Given the description of an element on the screen output the (x, y) to click on. 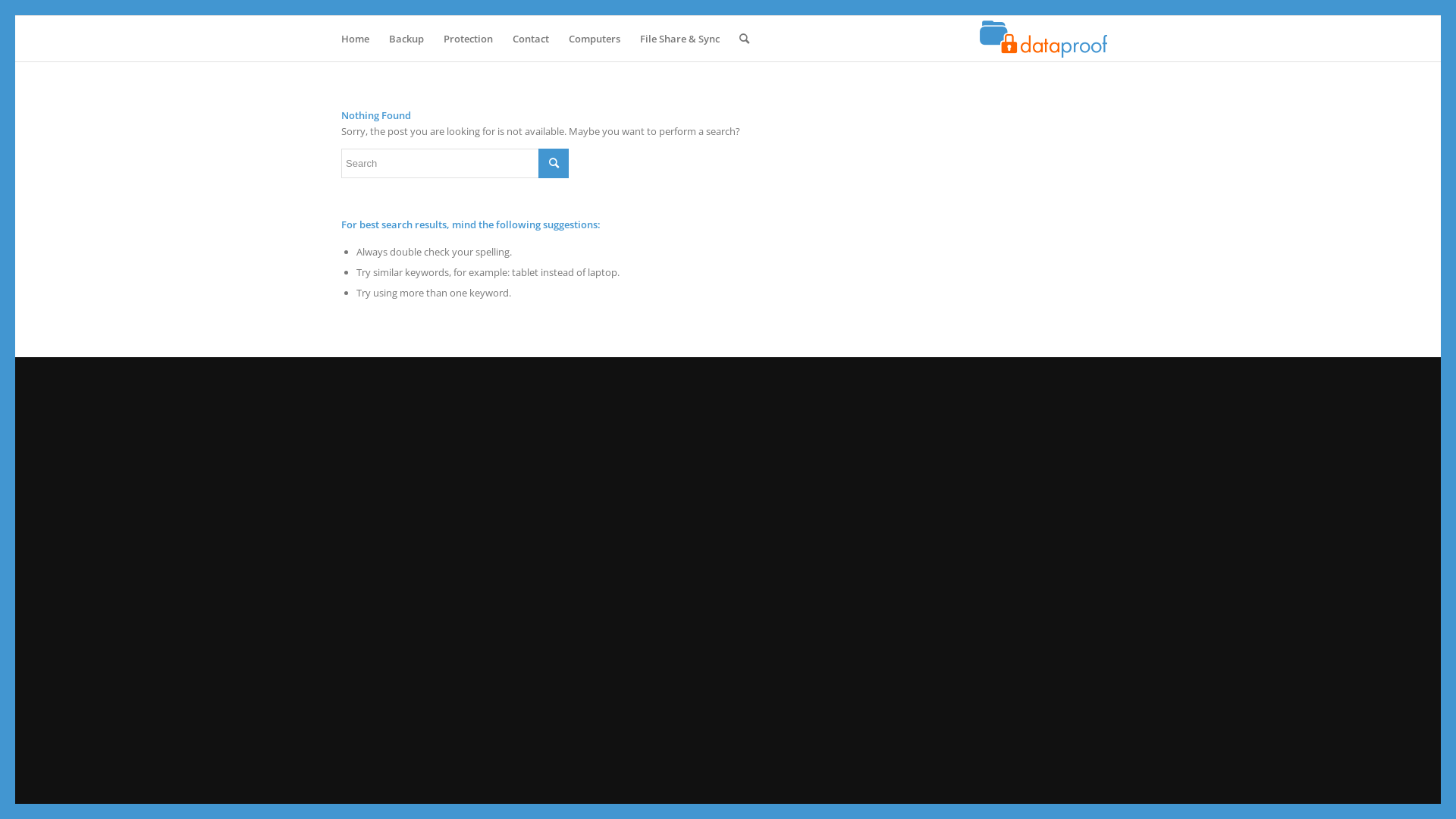
Contact Element type: text (530, 38)
File Share & Sync Element type: text (679, 38)
logo60 Element type: hover (1044, 38)
Computers Element type: text (594, 38)
Home Element type: text (355, 38)
Protection Element type: text (467, 38)
Backup Element type: text (406, 38)
